Given the description of an element on the screen output the (x, y) to click on. 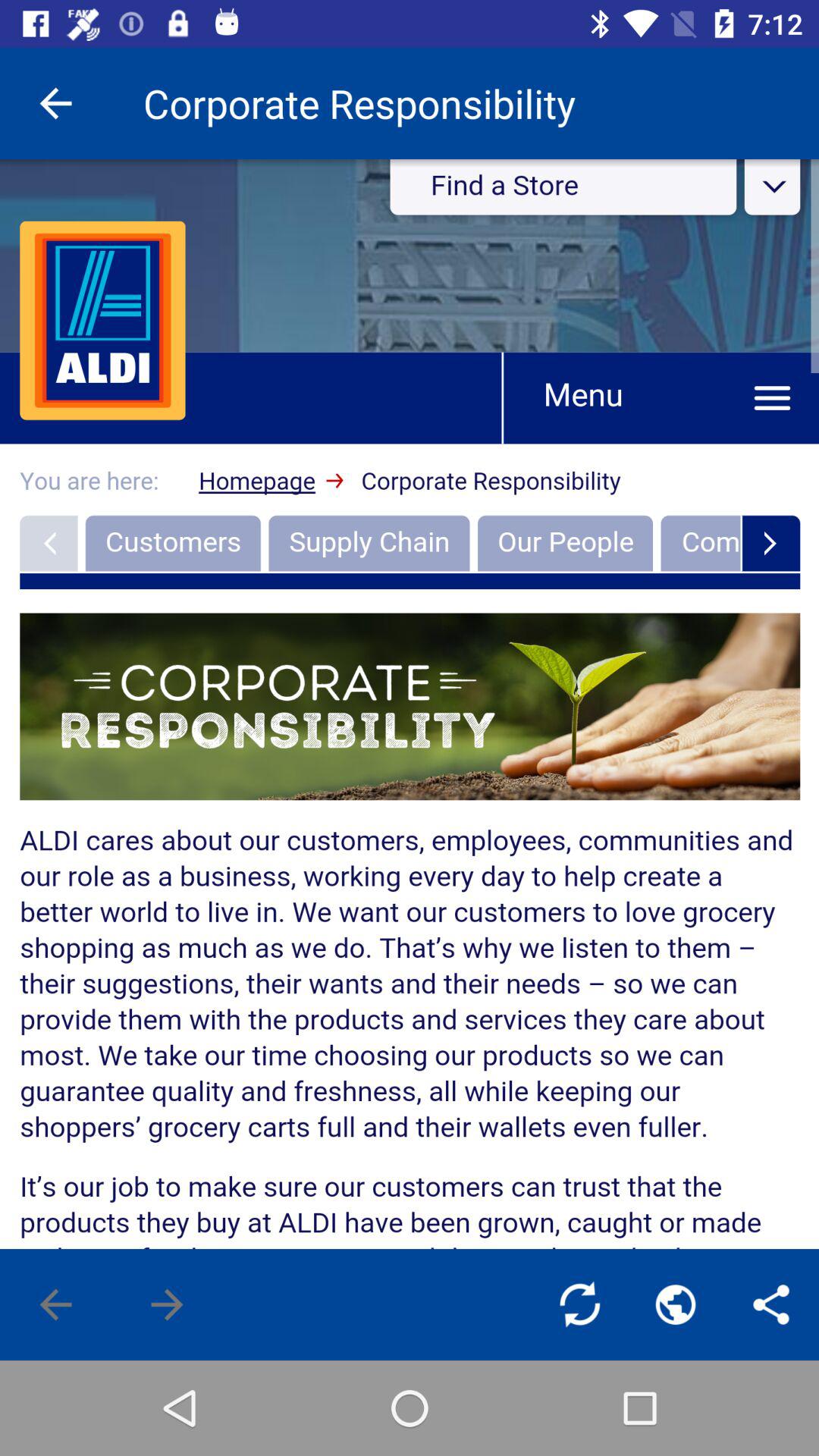
go back (55, 1304)
